Given the description of an element on the screen output the (x, y) to click on. 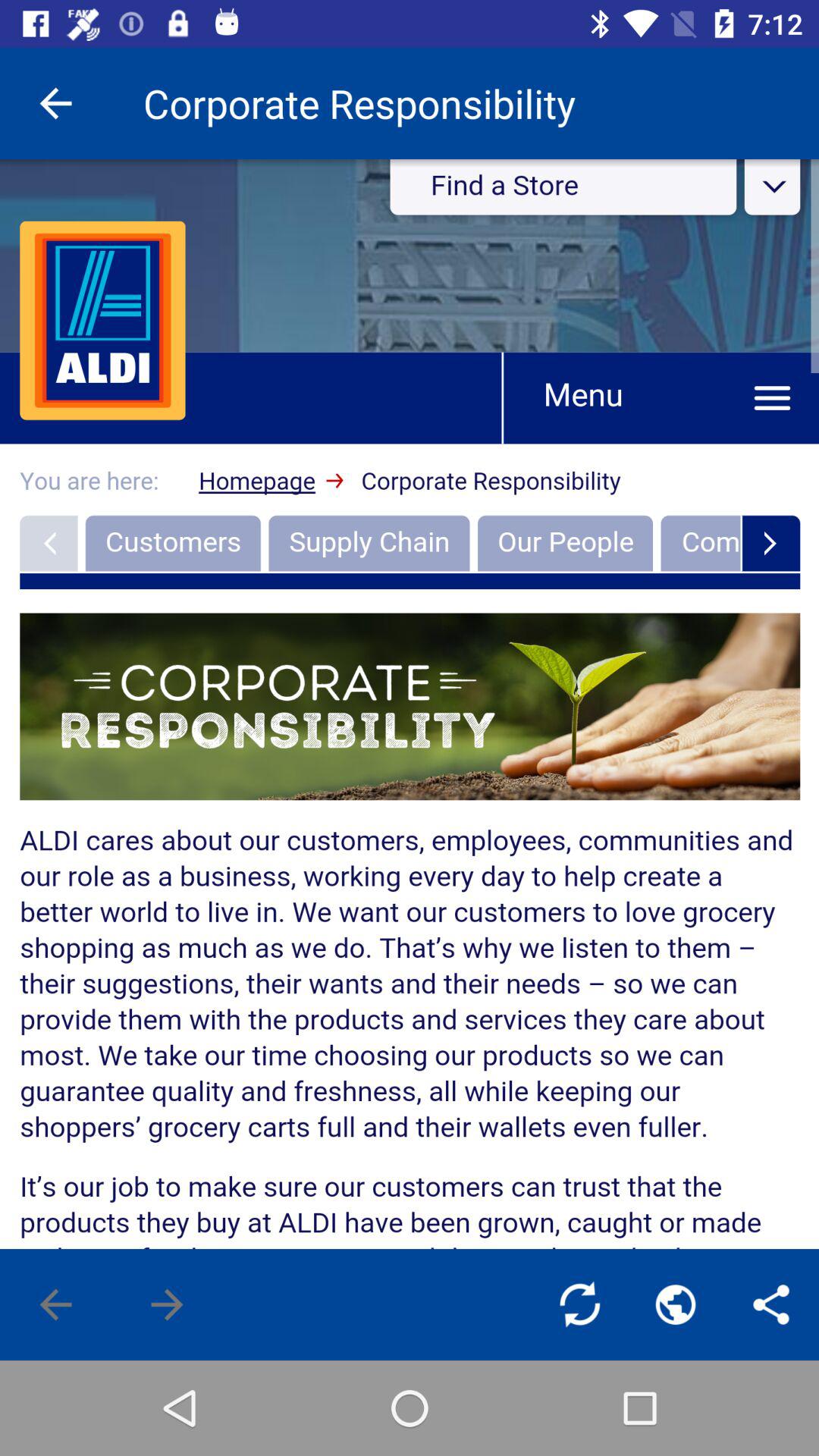
go back (55, 1304)
